Given the description of an element on the screen output the (x, y) to click on. 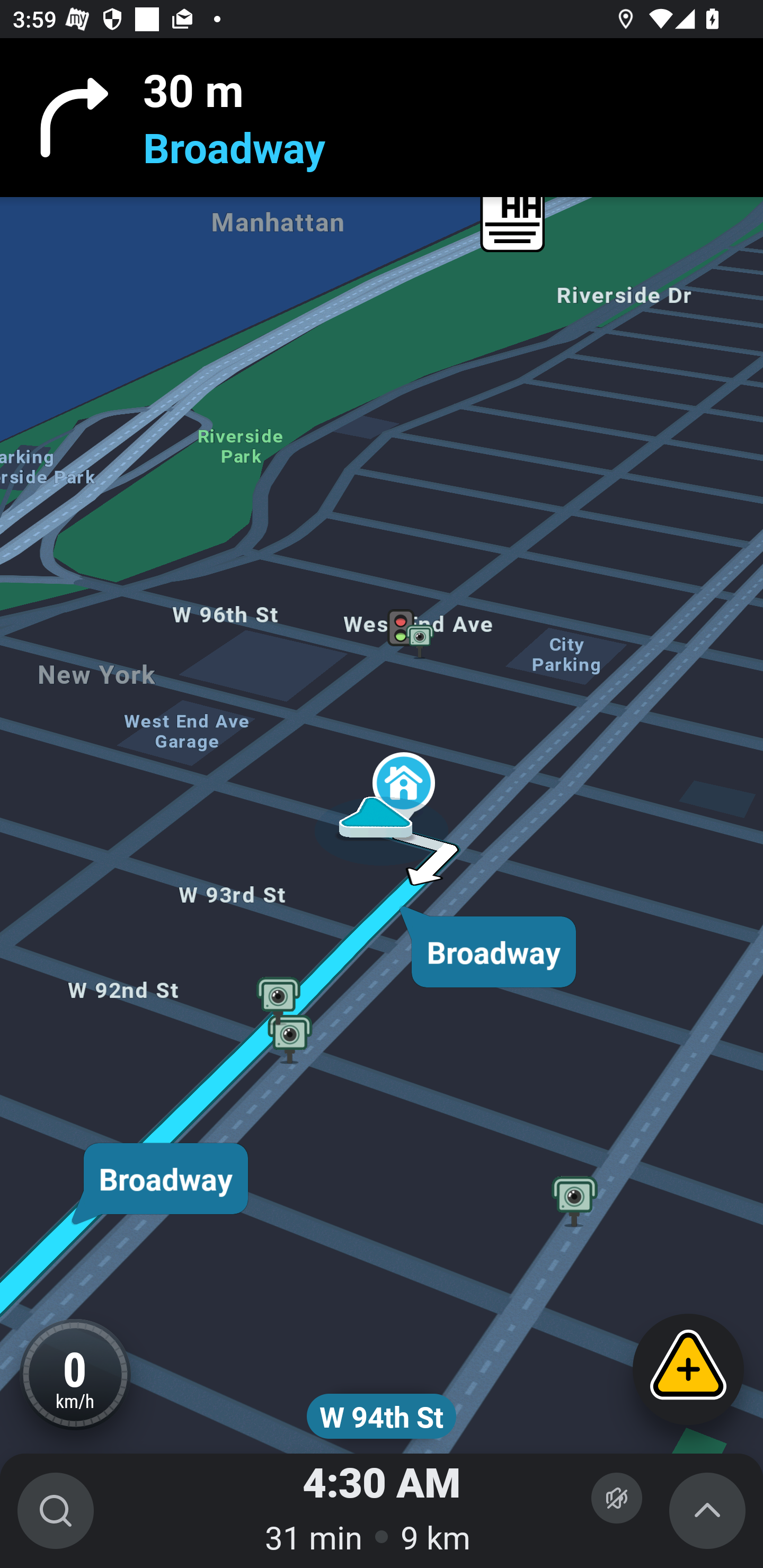
30 m Broadway (381, 117)
4:30 AM 31 min 9 km (381, 1510)
